Given the description of an element on the screen output the (x, y) to click on. 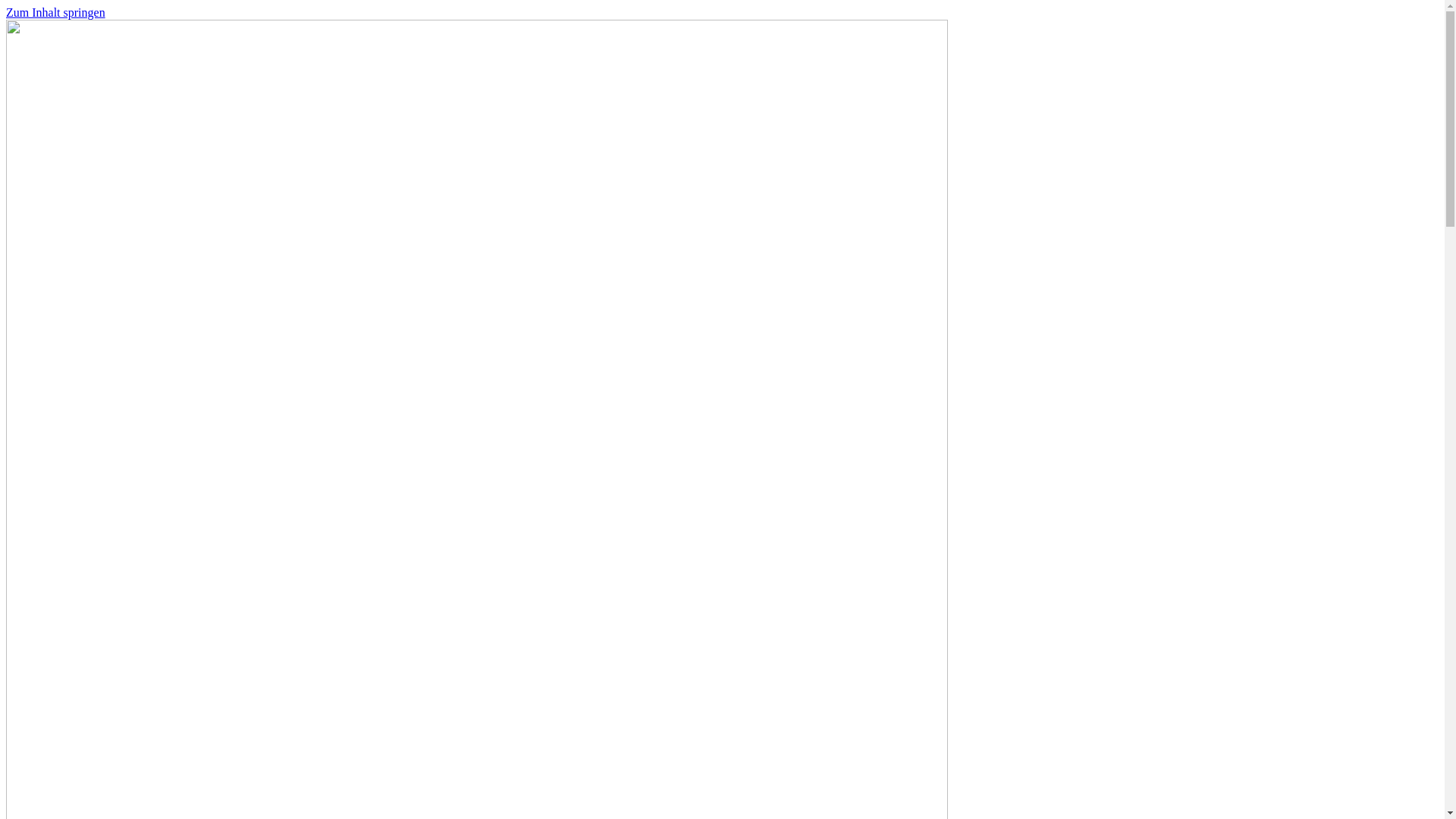
Zum Inhalt springen Element type: text (55, 12)
